Given the description of an element on the screen output the (x, y) to click on. 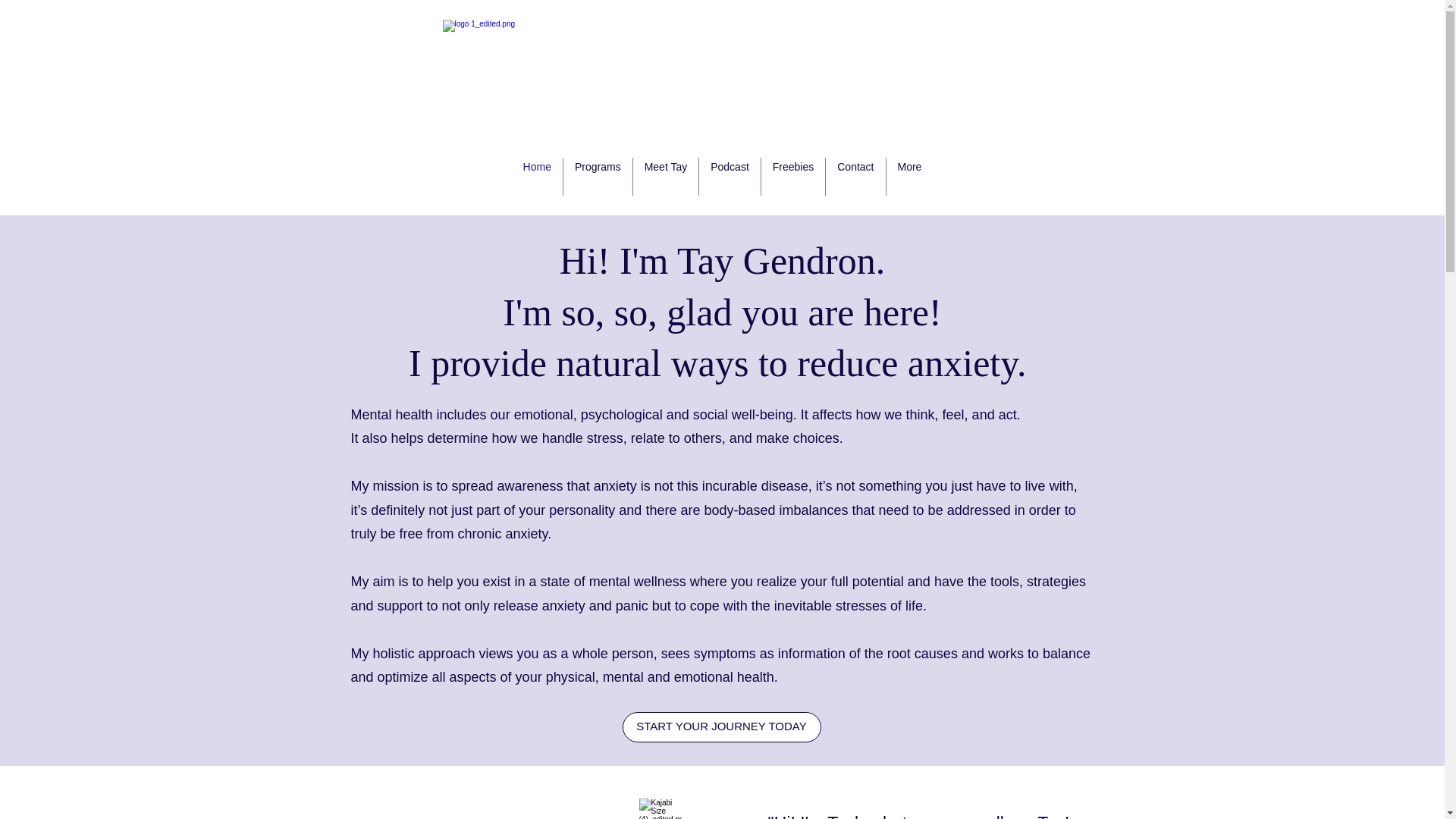
Home (537, 176)
Contact (855, 176)
Freebies (793, 176)
START YOUR JOURNEY TODAY (721, 726)
Podcast (729, 176)
Meet Tay (665, 176)
Programs (597, 176)
